Given the description of an element on the screen output the (x, y) to click on. 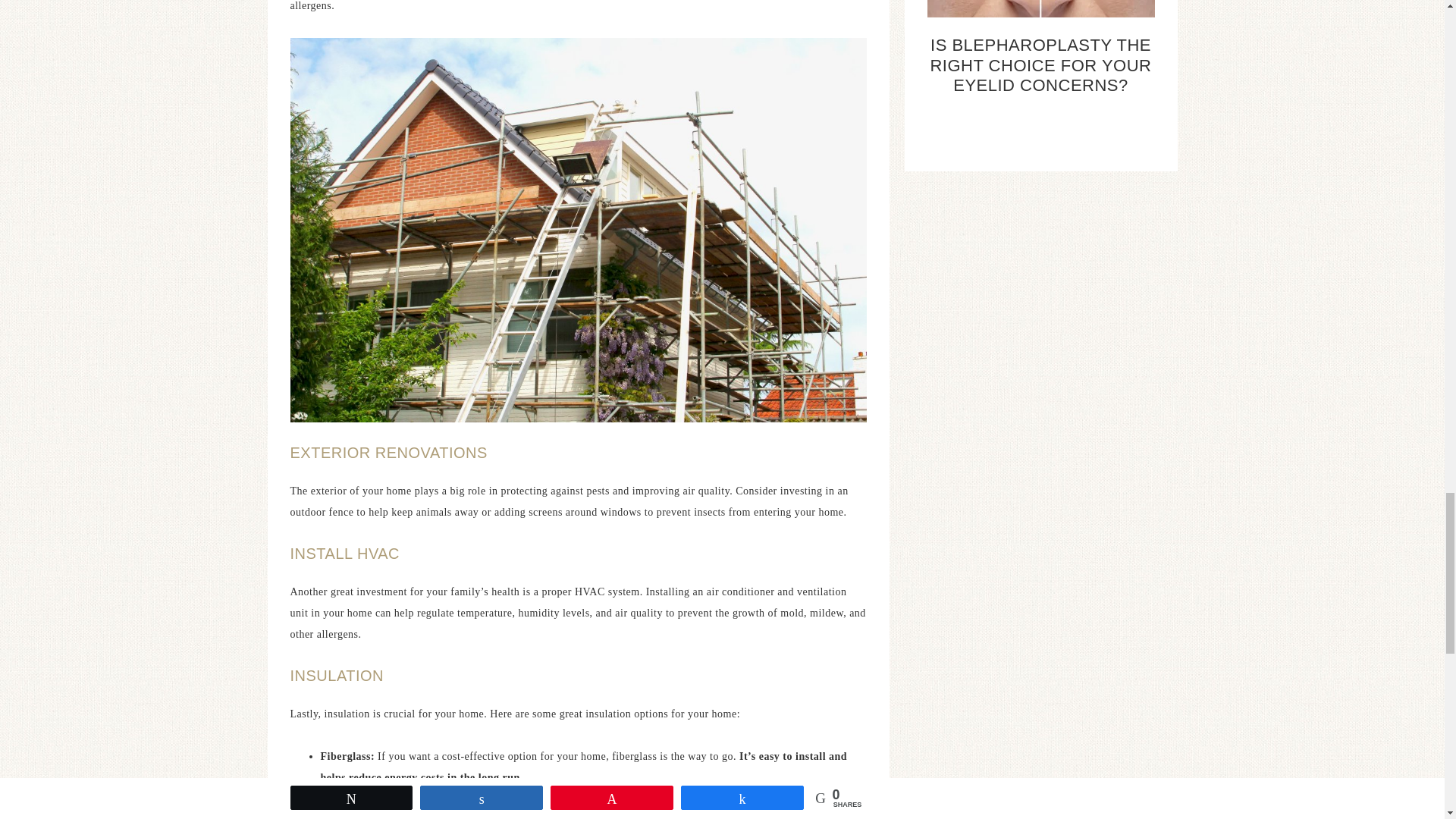
IS BLEPHAROPLASTY THE RIGHT CHOICE FOR YOUR EYELID CONCERNS? (1040, 65)
